Given the description of an element on the screen output the (x, y) to click on. 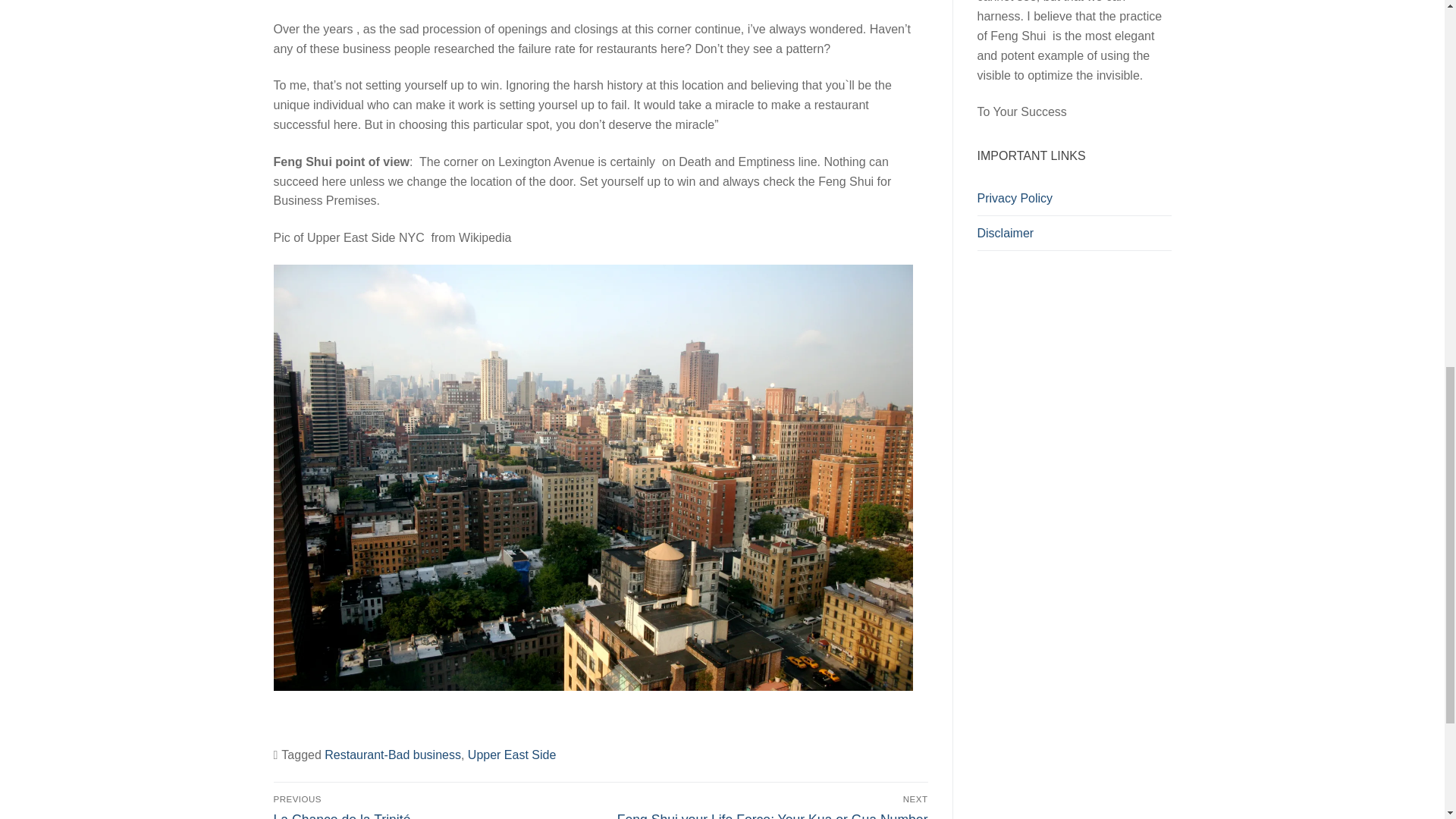
Restaurant-Bad business (392, 754)
Privacy Policy (1073, 198)
Disclaimer (1073, 233)
Upper East Side (511, 754)
